Given the description of an element on the screen output the (x, y) to click on. 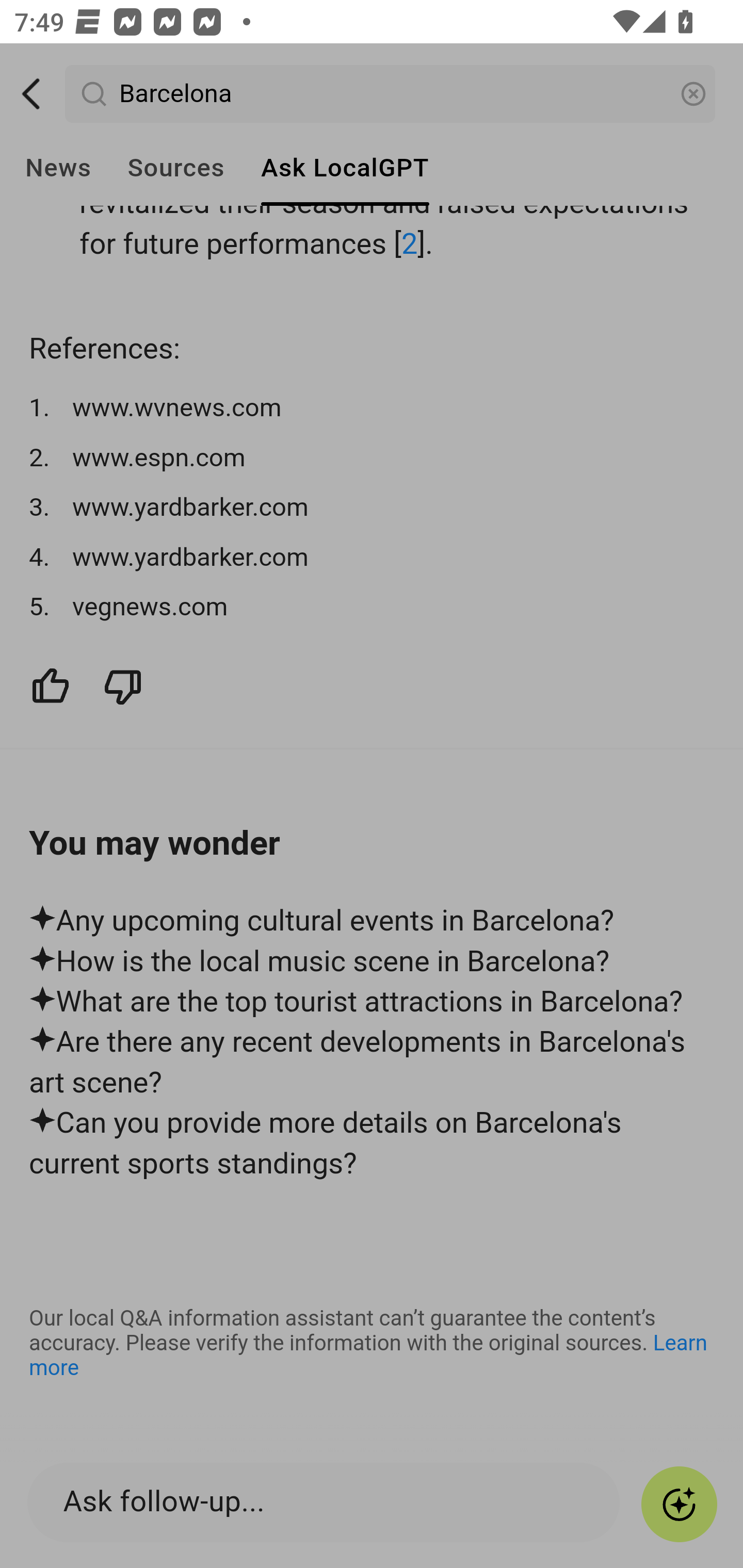
Barcelona (390, 95)
News (58, 168)
Sources (175, 168)
Ask LocalGPT (344, 168)
2 (410, 245)
1. www.wvnews.com 1. www.wvnews.com (372, 409)
2. www.espn.com 2. www.espn.com (372, 459)
3. www.yardbarker.com 3. www.yardbarker.com (372, 508)
4. www.yardbarker.com 4. www.yardbarker.com (372, 558)
5. vegnews.com 5. vegnews.com (372, 608)
Any upcoming cultural events in Barcelona? (372, 921)
How is the local music scene in Barcelona? (372, 962)
What are the top tourist attractions in Barcelona? (372, 1003)
